Given the description of an element on the screen output the (x, y) to click on. 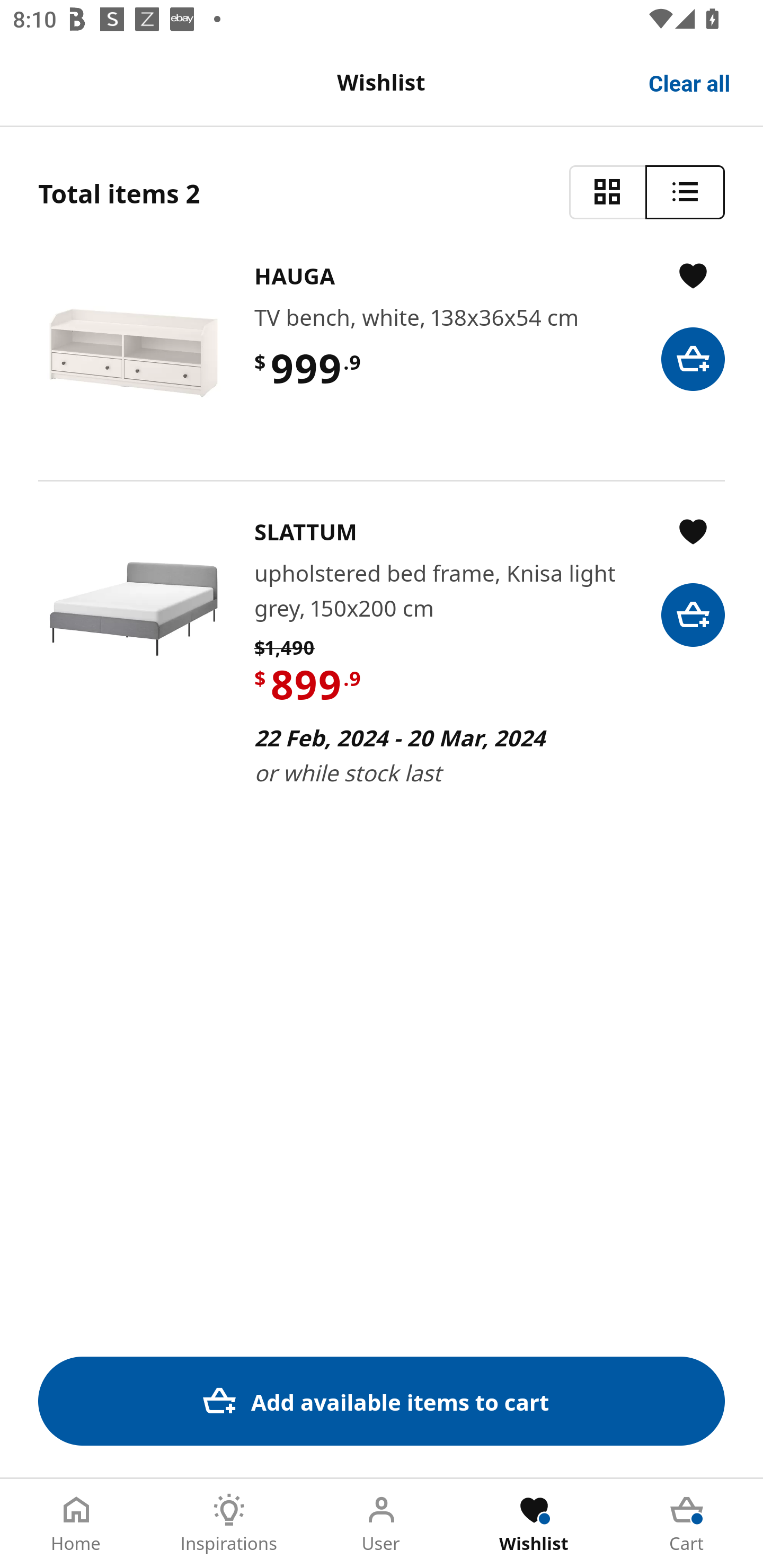
Clear all (689, 81)
​H​A​U​G​A​
TV bench, white, 138x36x54 cm
$
999
.9 (381, 352)
Add available items to cart (381, 1400)
Home
Tab 1 of 5 (76, 1522)
Inspirations
Tab 2 of 5 (228, 1522)
User
Tab 3 of 5 (381, 1522)
Wishlist
Tab 4 of 5 (533, 1522)
Cart
Tab 5 of 5 (686, 1522)
